Given the description of an element on the screen output the (x, y) to click on. 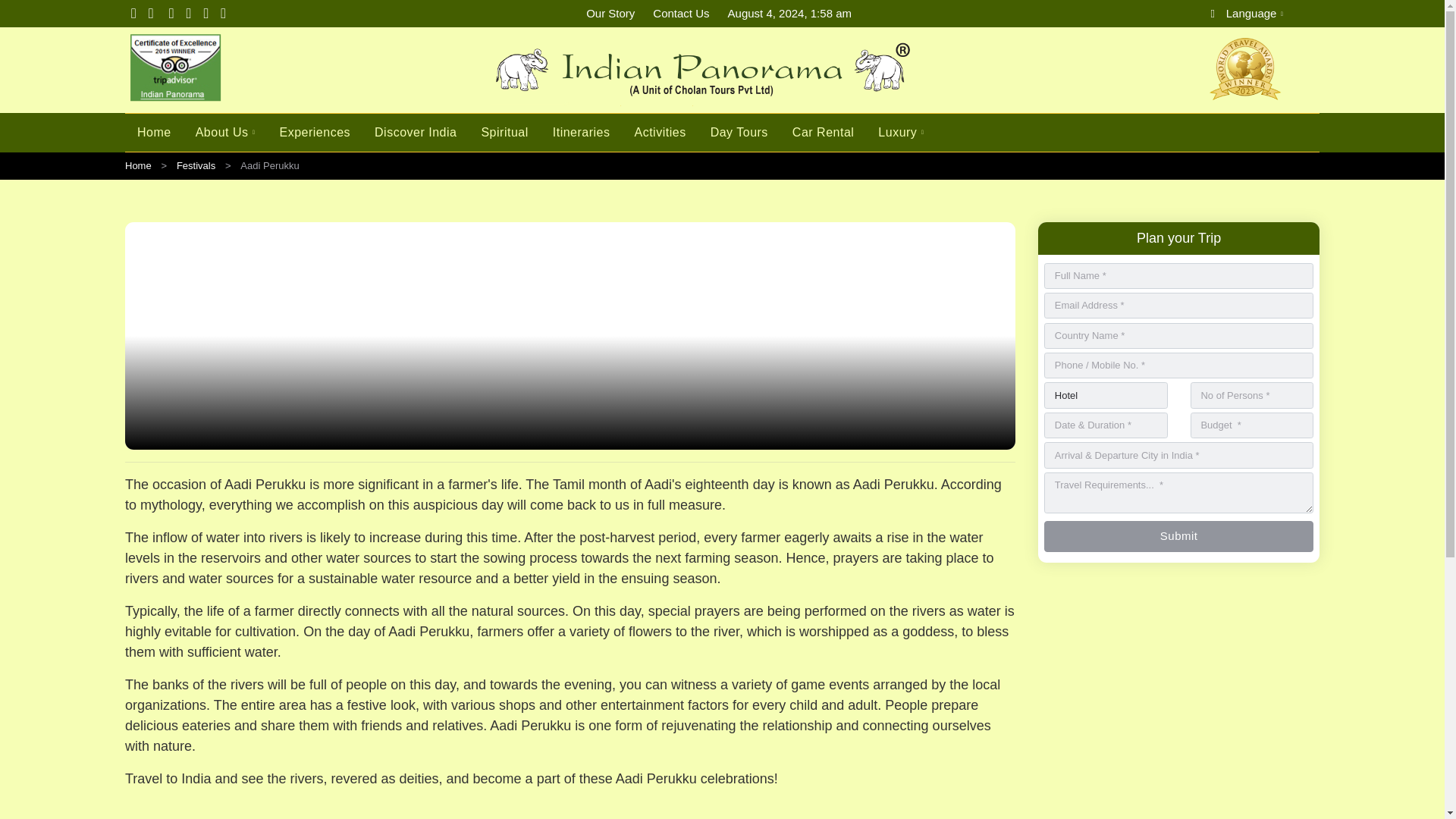
Aadi Perukku (568, 314)
Contact Us (680, 13)
Spiritual (504, 132)
Submit (1178, 536)
Luxury (894, 132)
About Us (225, 132)
Experiences (314, 132)
Day Tours (739, 132)
Car Rental (823, 132)
Indianpanorama Logo (721, 71)
Language (1262, 15)
Our Story (609, 13)
Discover India (415, 132)
Home (138, 165)
